Given the description of an element on the screen output the (x, y) to click on. 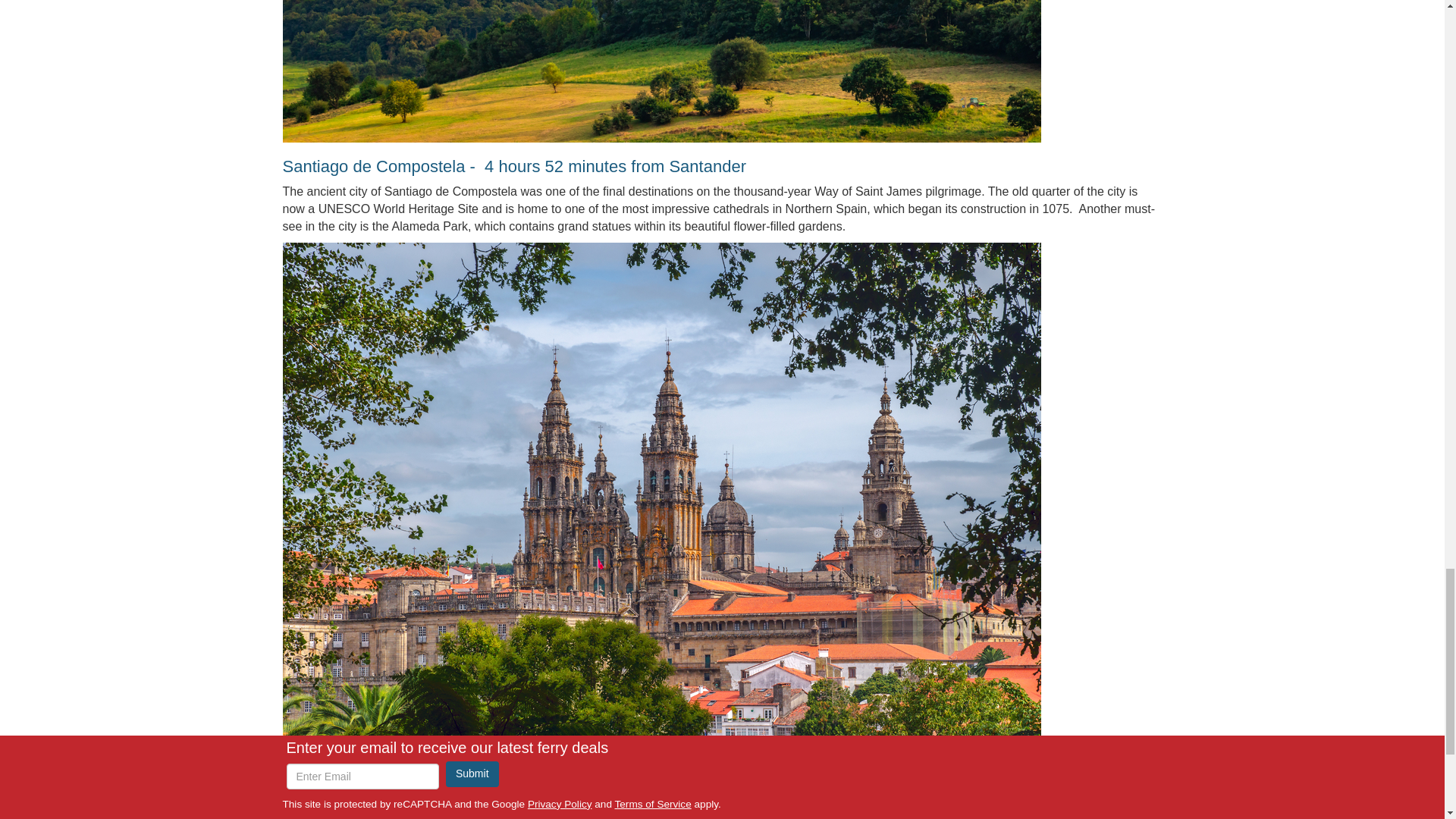
shutterstock-1355731613.jpg (661, 71)
